Given the description of an element on the screen output the (x, y) to click on. 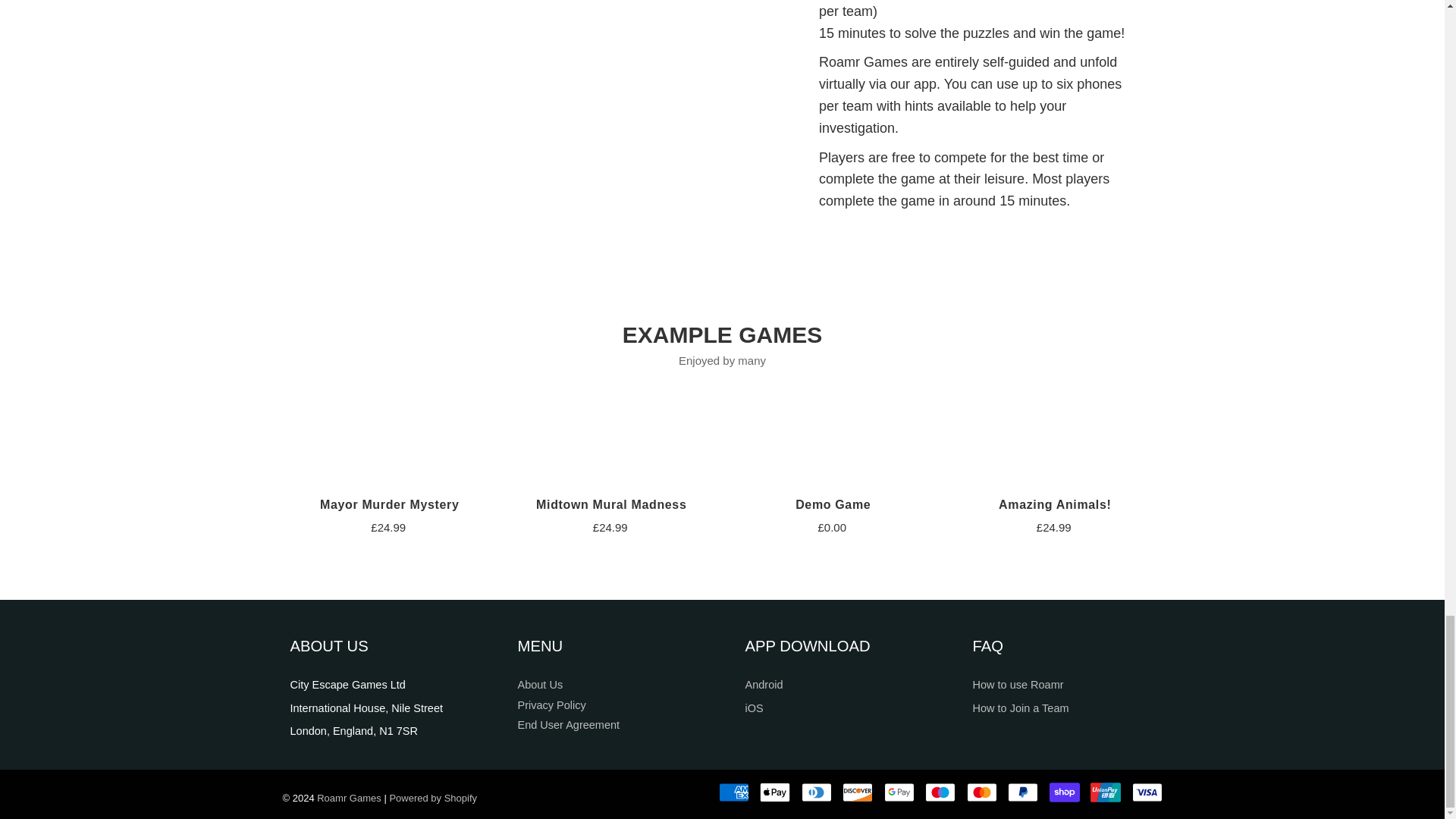
Shop Pay (1064, 792)
Google Pay (898, 792)
Diners Club (816, 792)
Union Pay (1105, 792)
Visa (1146, 792)
Mastercard (981, 792)
Apple Pay (775, 792)
About Us (539, 684)
American Express (734, 792)
Maestro (939, 792)
